Given the description of an element on the screen output the (x, y) to click on. 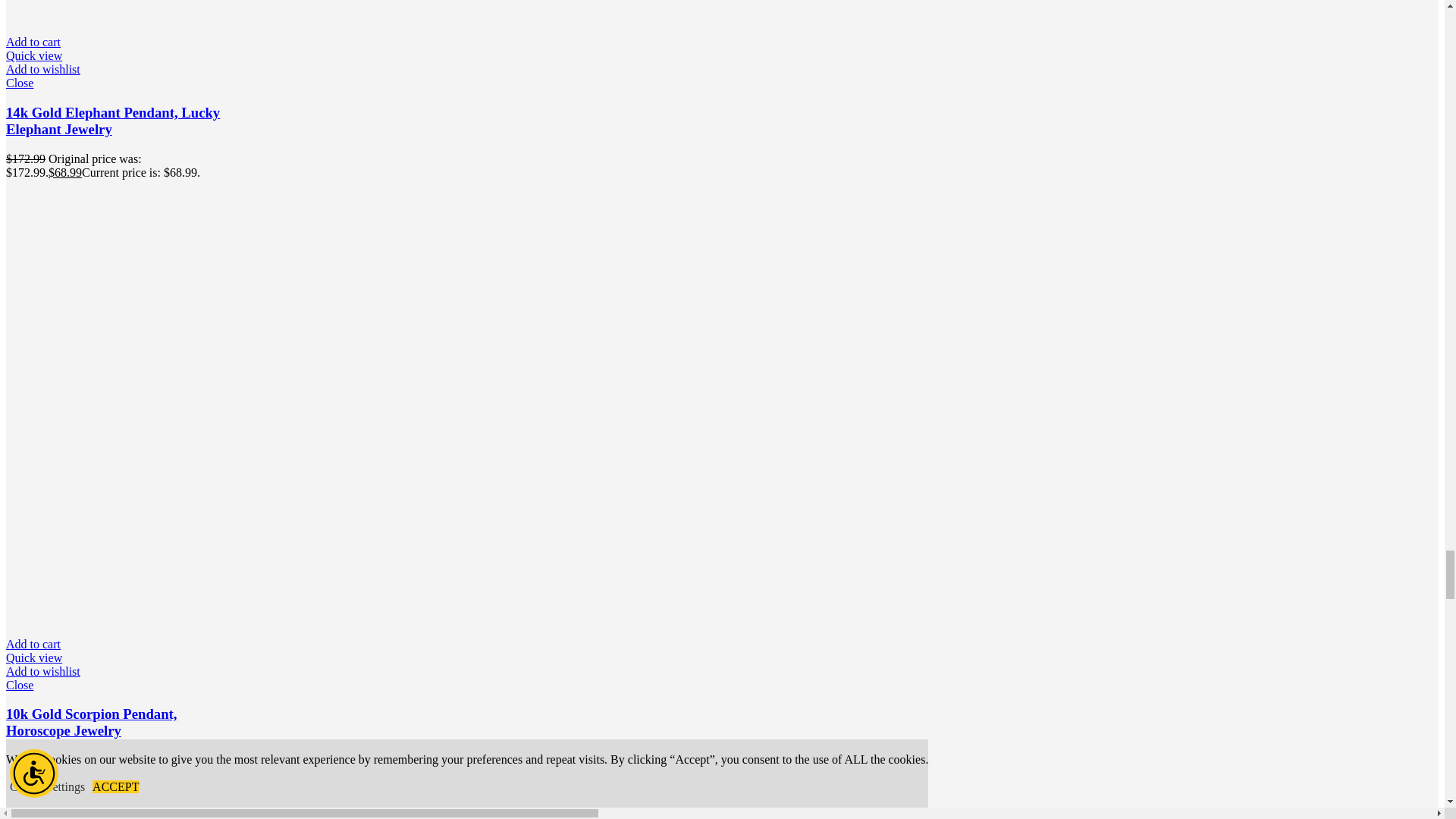
Close (121, 83)
Close (121, 685)
